Given the description of an element on the screen output the (x, y) to click on. 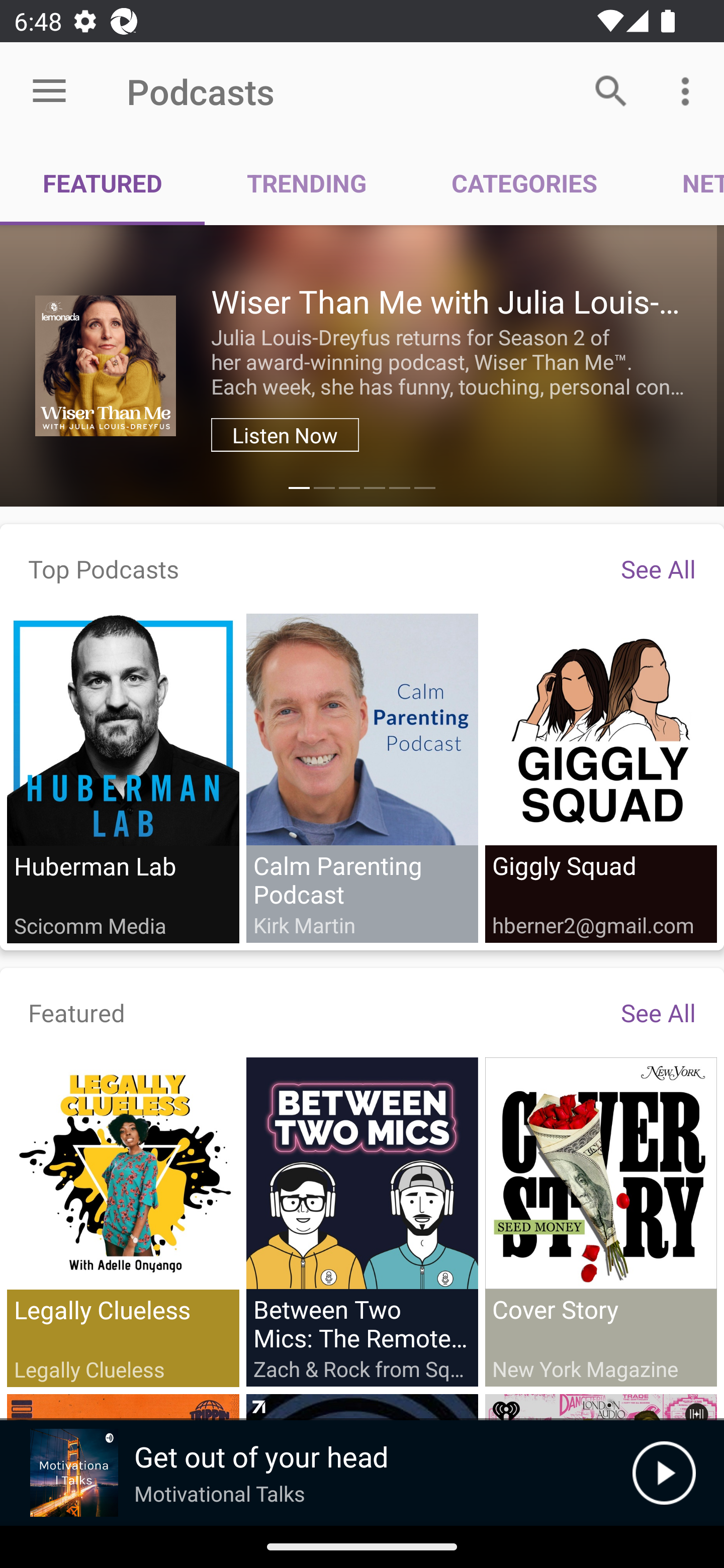
Open menu (49, 91)
Search (611, 90)
More options (688, 90)
FEATURED (102, 183)
TRENDING (306, 183)
CATEGORIES (524, 183)
Top Podcasts (103, 567)
See All (658, 567)
Huberman Lab Scicomm Media (123, 778)
Calm Parenting Podcast Kirk Martin (361, 777)
Giggly Squad hberner2@gmail.com (600, 777)
Featured (76, 1011)
See All (658, 1011)
Legally Clueless (123, 1221)
Cover Story New York Magazine (600, 1221)
Picture Get out of your head Motivational Talks (316, 1472)
Play (663, 1472)
